Given the description of an element on the screen output the (x, y) to click on. 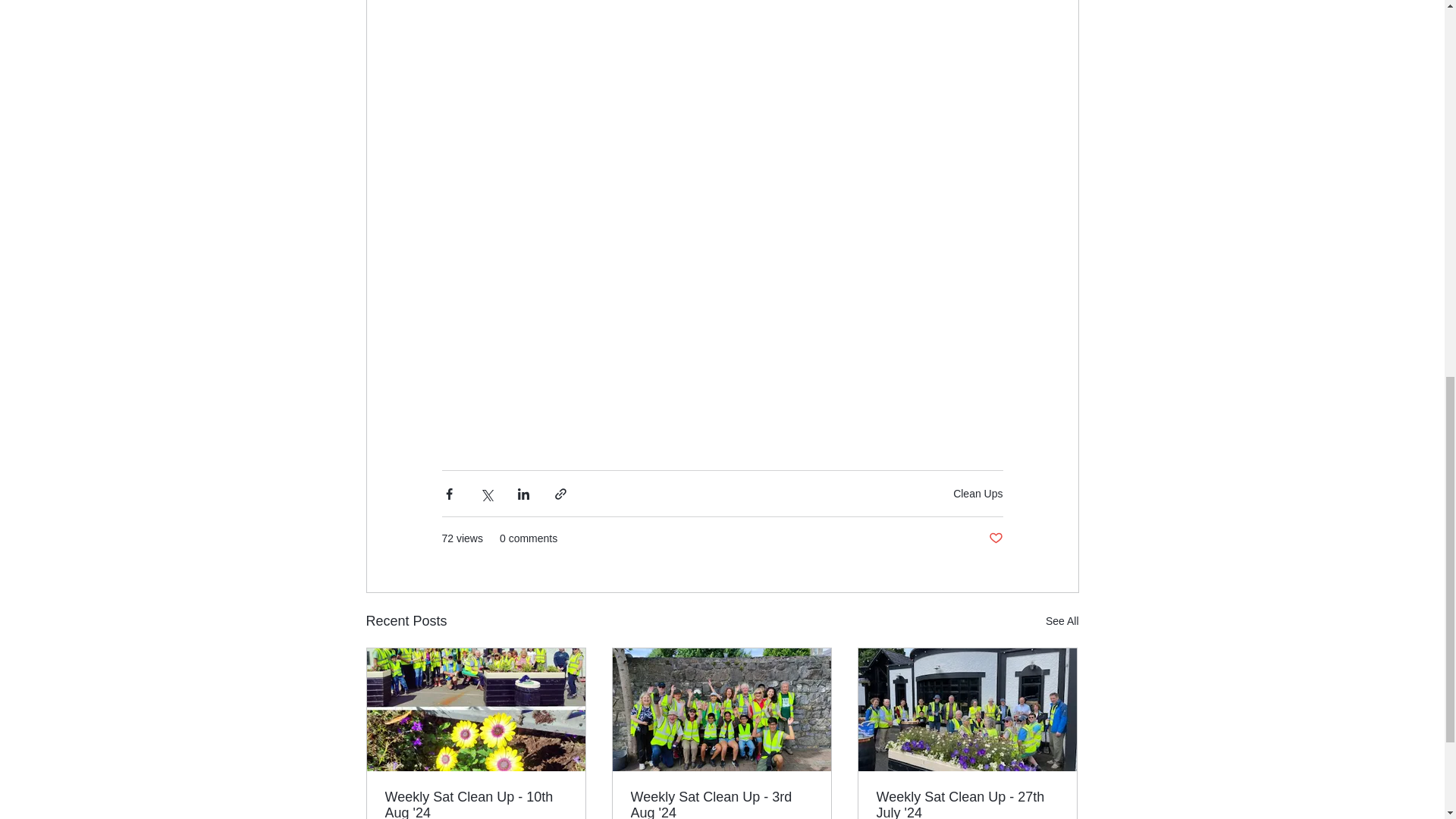
See All (1061, 621)
Post not marked as liked (995, 538)
Weekly Sat Clean Up - 10th Aug '24 (476, 804)
Clean Ups (978, 493)
